Given the description of an element on the screen output the (x, y) to click on. 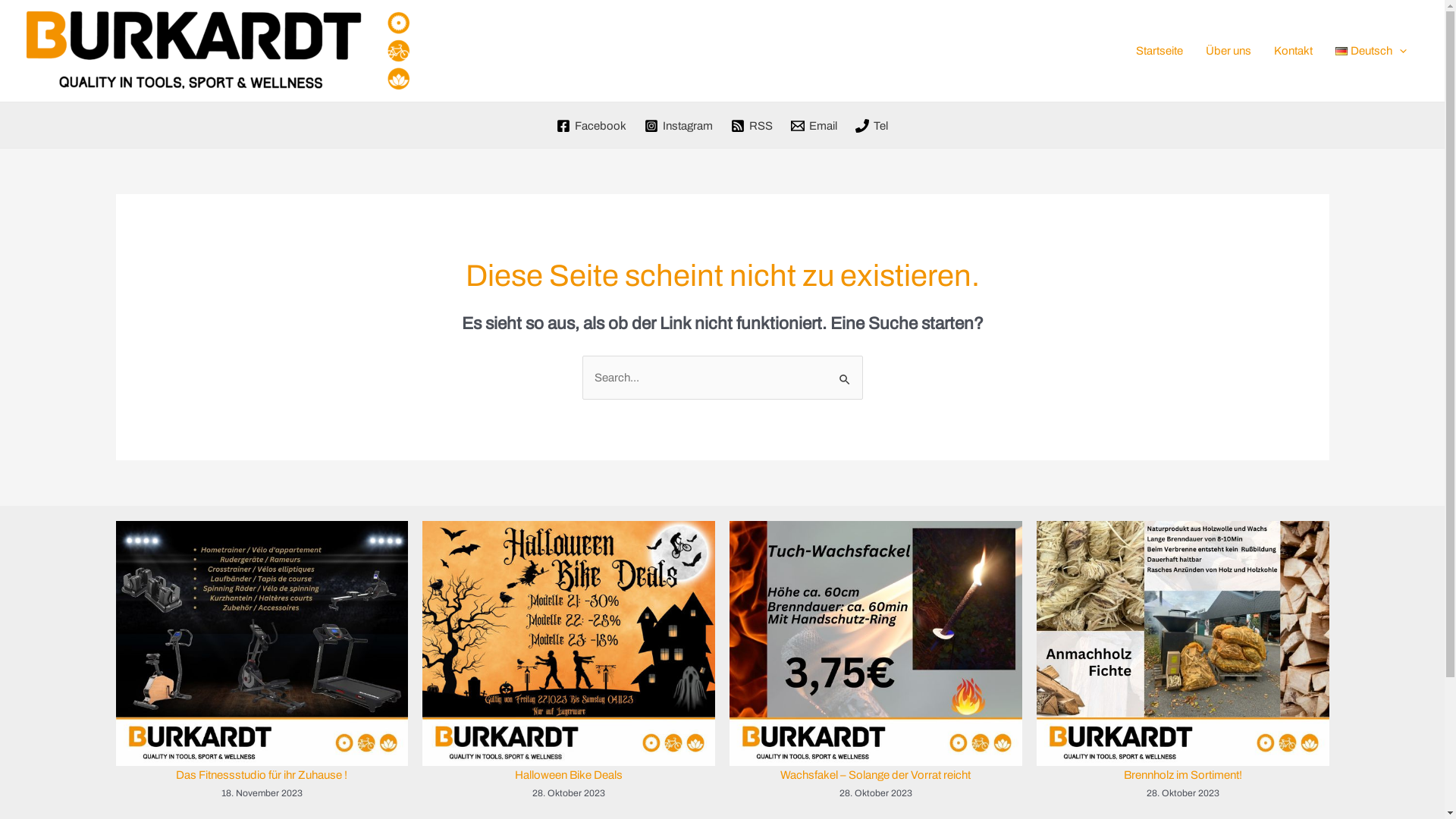
RSS Element type: text (751, 125)
Instagram Element type: text (678, 125)
Tel Element type: text (871, 125)
Kontakt Element type: text (1292, 50)
Suche Element type: text (845, 370)
Email Element type: text (813, 125)
Brennholz im Sortiment! Element type: text (1182, 774)
Deutsch Element type: text (1371, 50)
Halloween Bike Deals Element type: text (568, 774)
Facebook Element type: text (591, 125)
Startseite Element type: text (1158, 50)
